Given the description of an element on the screen output the (x, y) to click on. 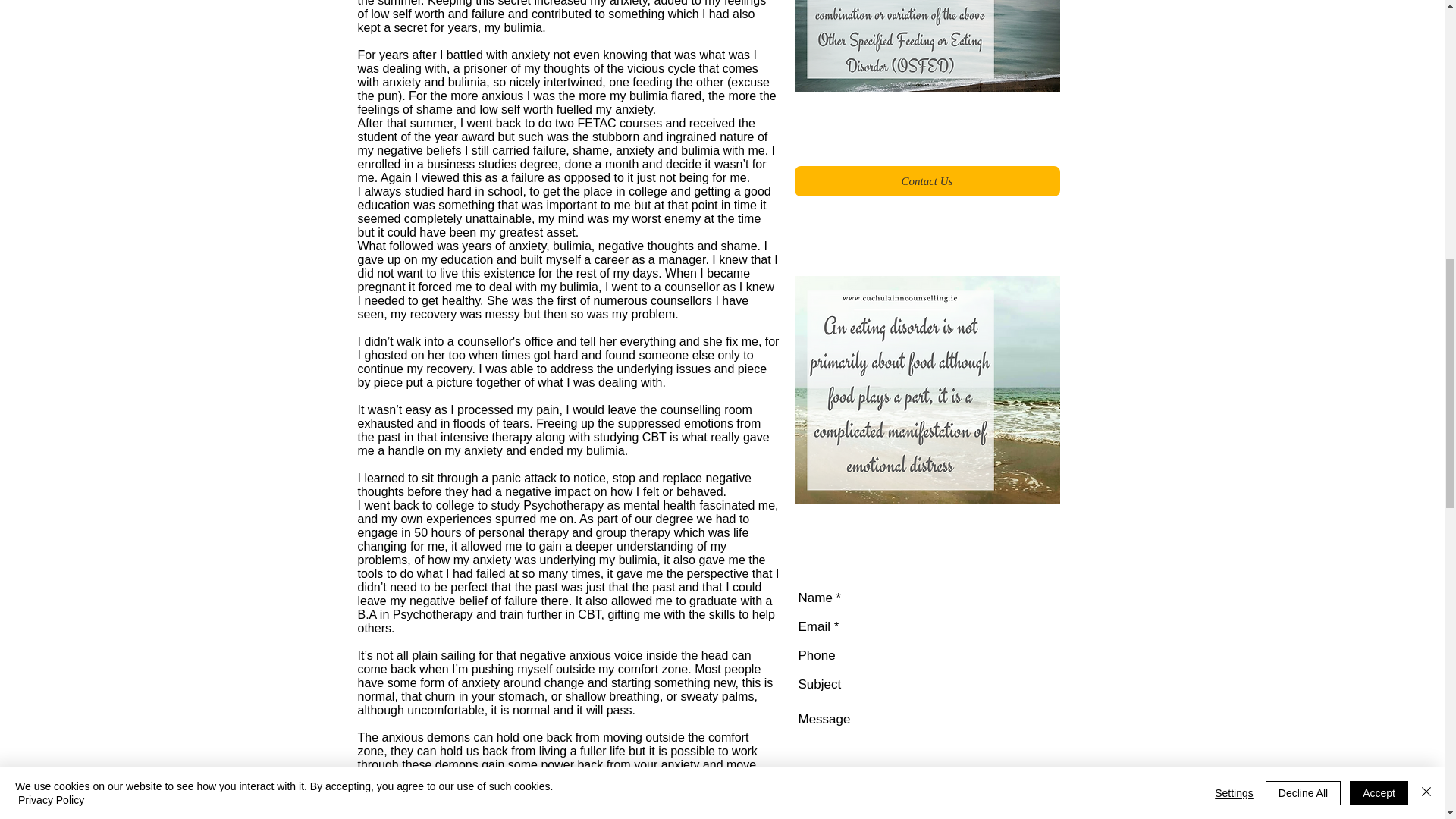
eating disorders (926, 389)
eating disorders decoded (926, 45)
Send (1041, 812)
Contact Us (926, 181)
